Given the description of an element on the screen output the (x, y) to click on. 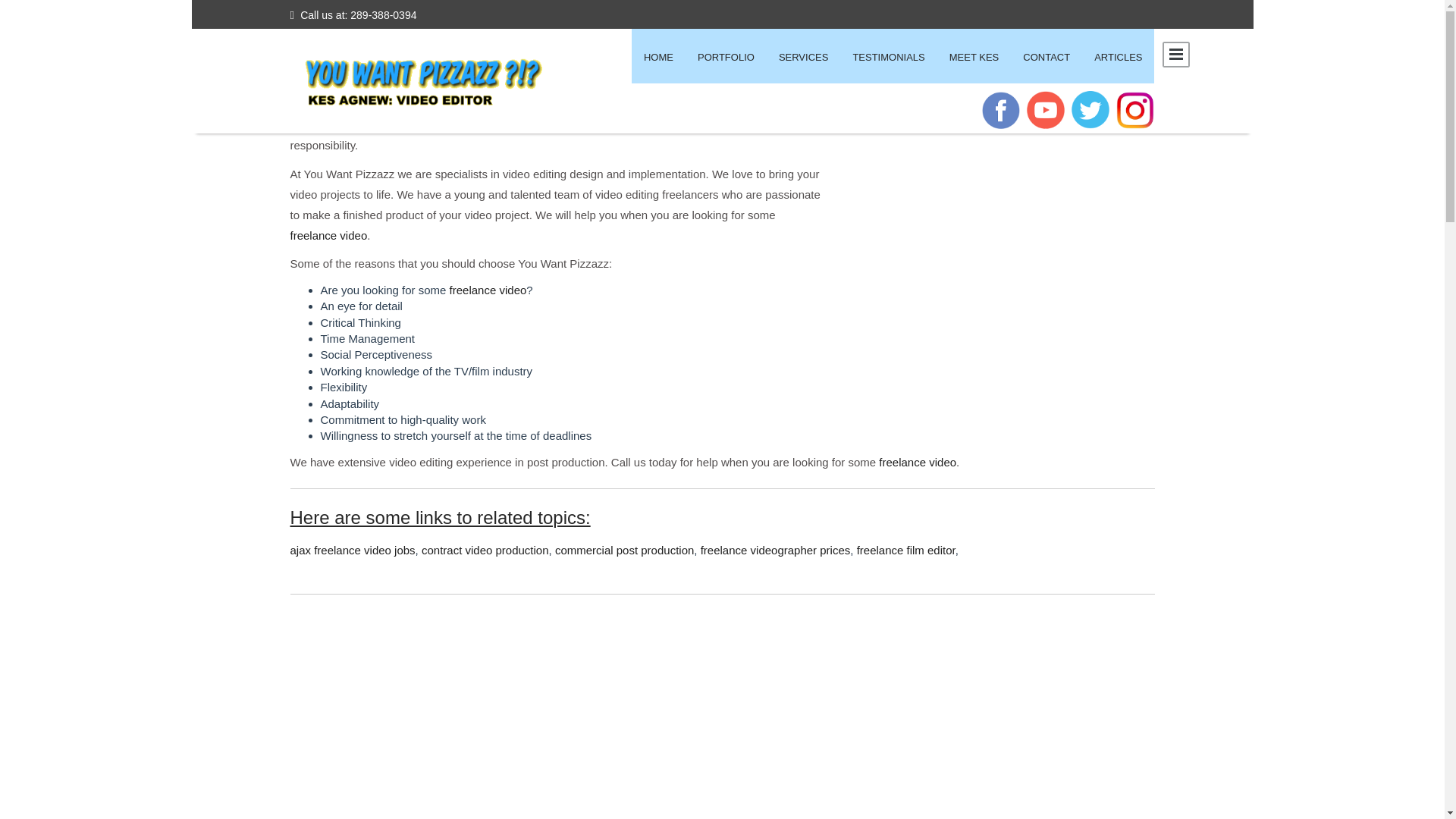
freelance film editor (906, 549)
CONTACT (1045, 55)
Call us at: 289-388-0394 (357, 15)
freelance video (569, 83)
freelance video (488, 289)
freelance video (917, 461)
PORTFOLIO (726, 55)
ajax freelance video jobs (351, 549)
freelance videographer prices (775, 549)
commercial post production (624, 549)
